Given the description of an element on the screen output the (x, y) to click on. 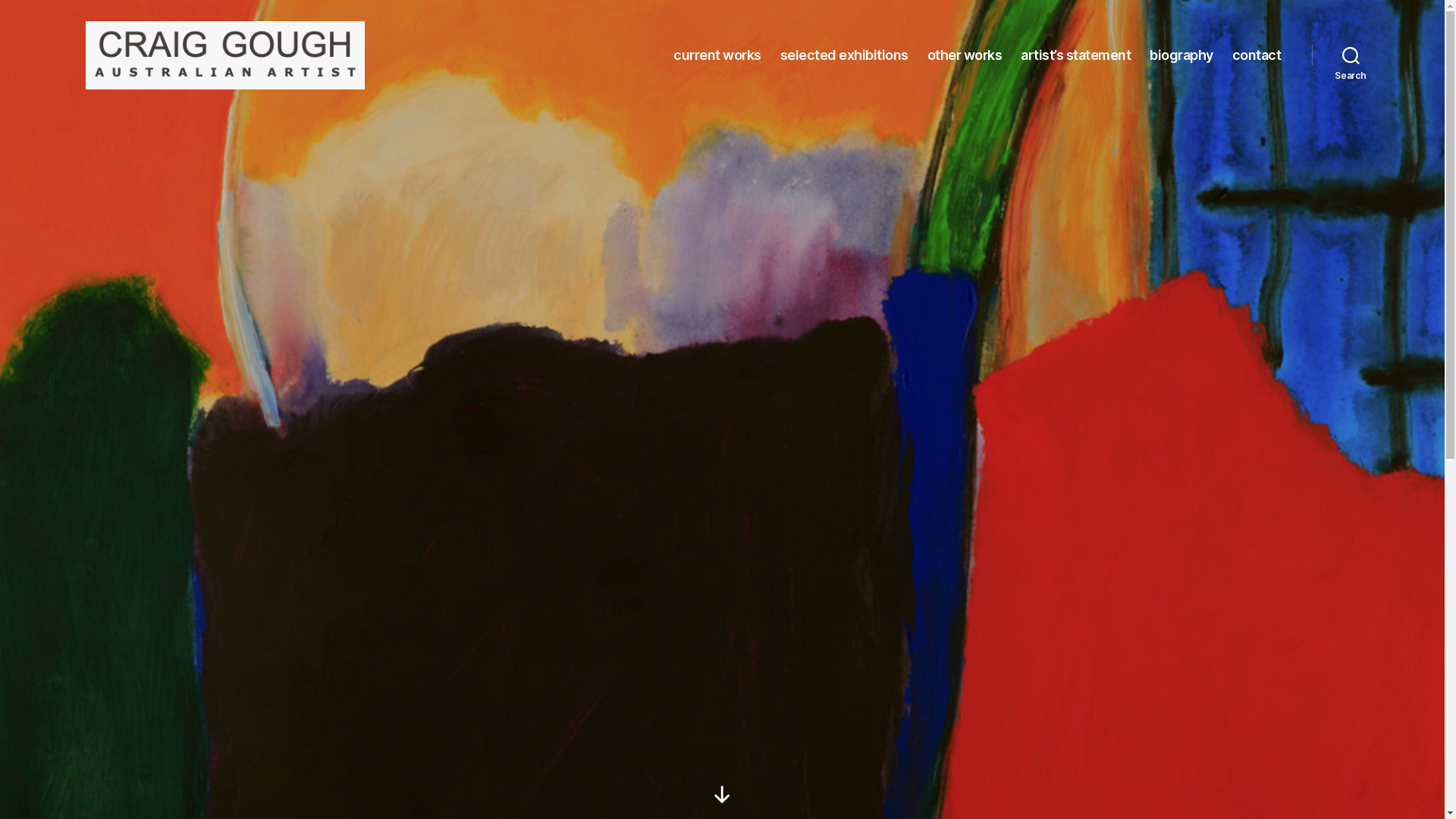
current works Element type: text (717, 55)
contact Element type: text (1256, 55)
Search Element type: text (1350, 55)
Scroll Down Element type: text (722, 794)
other works Element type: text (964, 55)
biography Element type: text (1181, 55)
selected exhibitions Element type: text (844, 55)
